Given the description of an element on the screen output the (x, y) to click on. 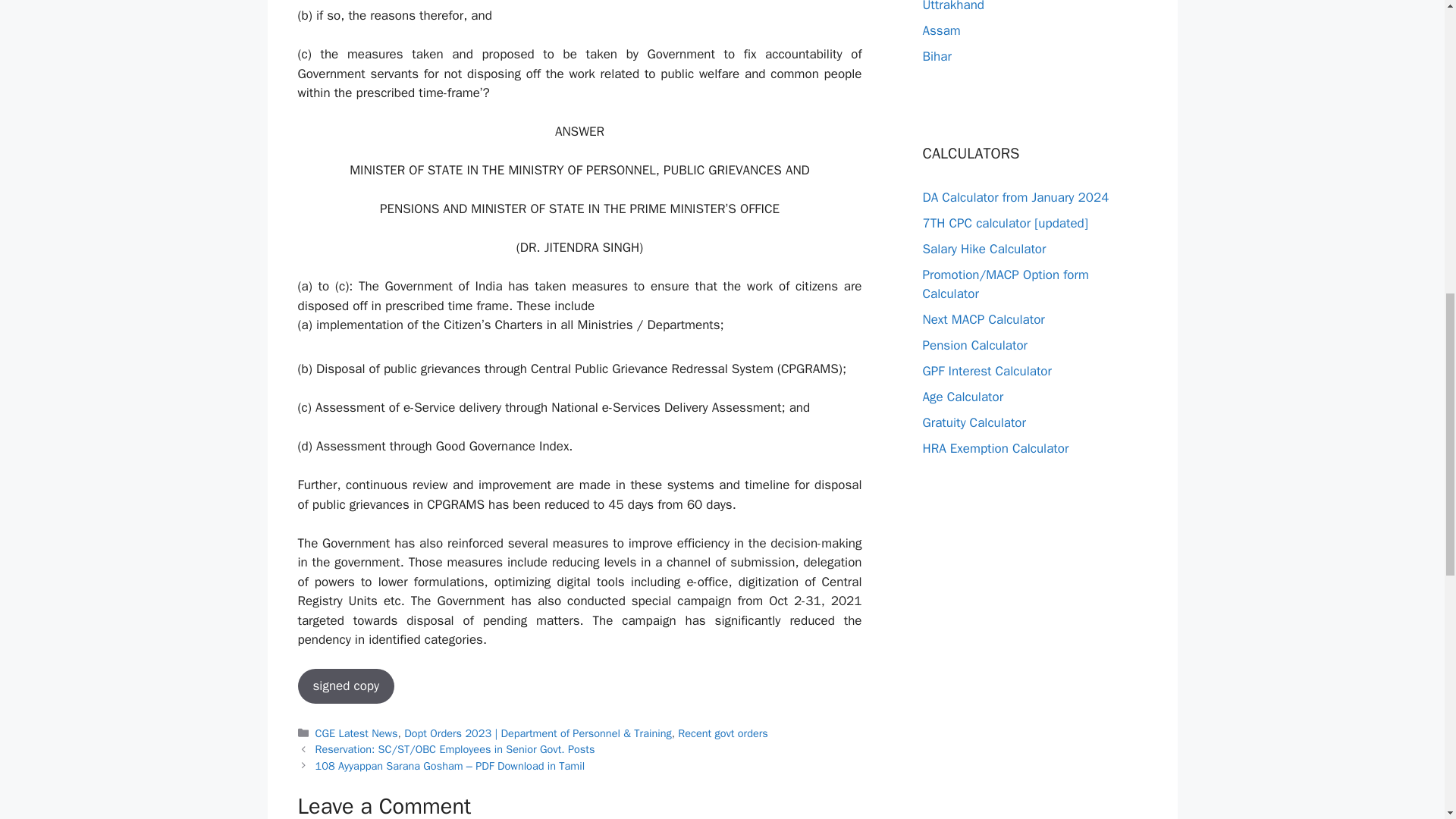
CGE Latest News (356, 733)
DA Calculator from January 2024 (1014, 197)
signed copy (345, 686)
Assam (940, 30)
Salary Hike Calculator (983, 248)
Recent govt orders (723, 733)
Uttrakhand (952, 6)
Bihar (935, 56)
Scroll back to top (1406, 720)
